Given the description of an element on the screen output the (x, y) to click on. 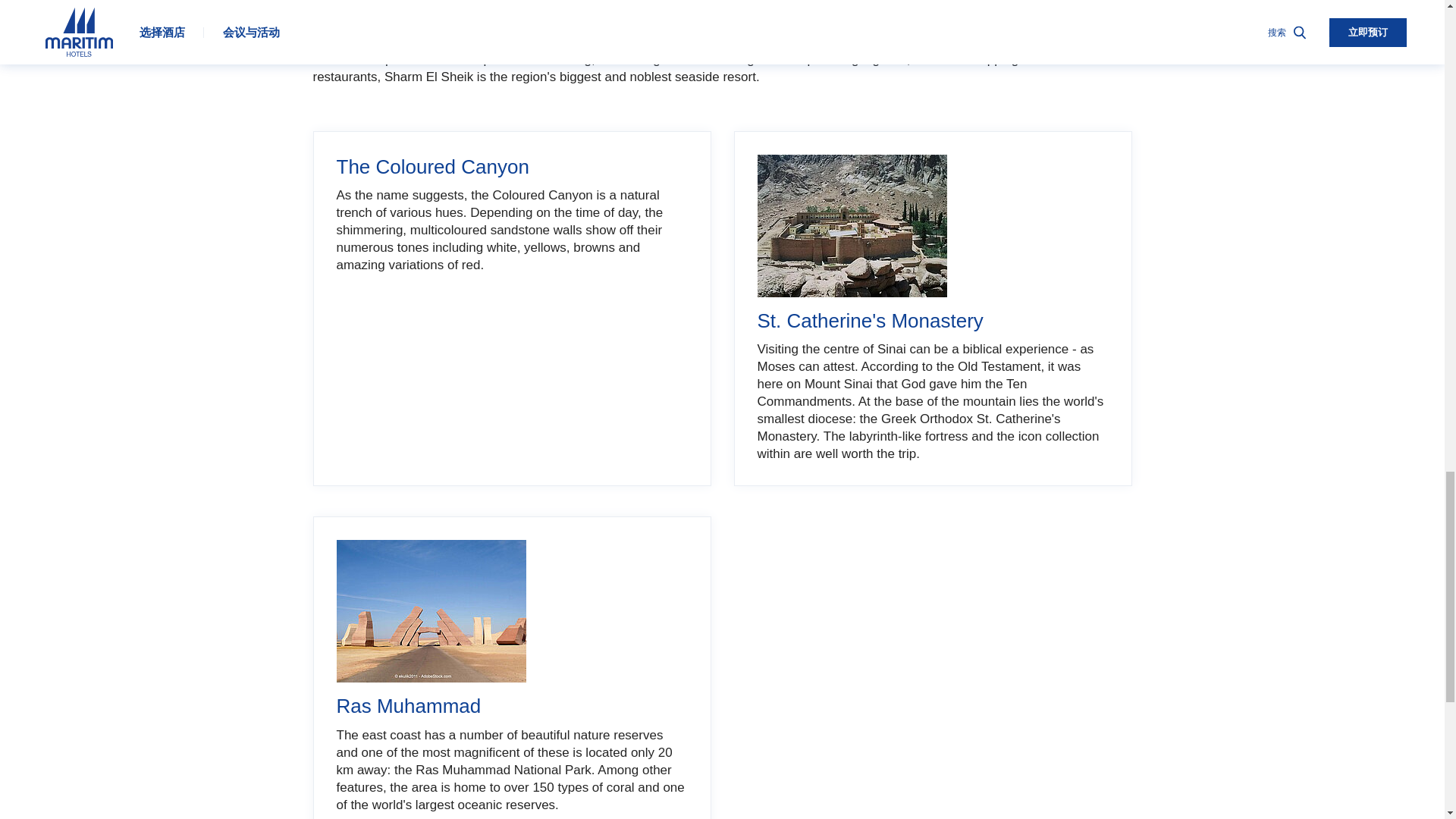
St. Catherine's Monastery (851, 225)
Ras Mohamed (430, 610)
